Given the description of an element on the screen output the (x, y) to click on. 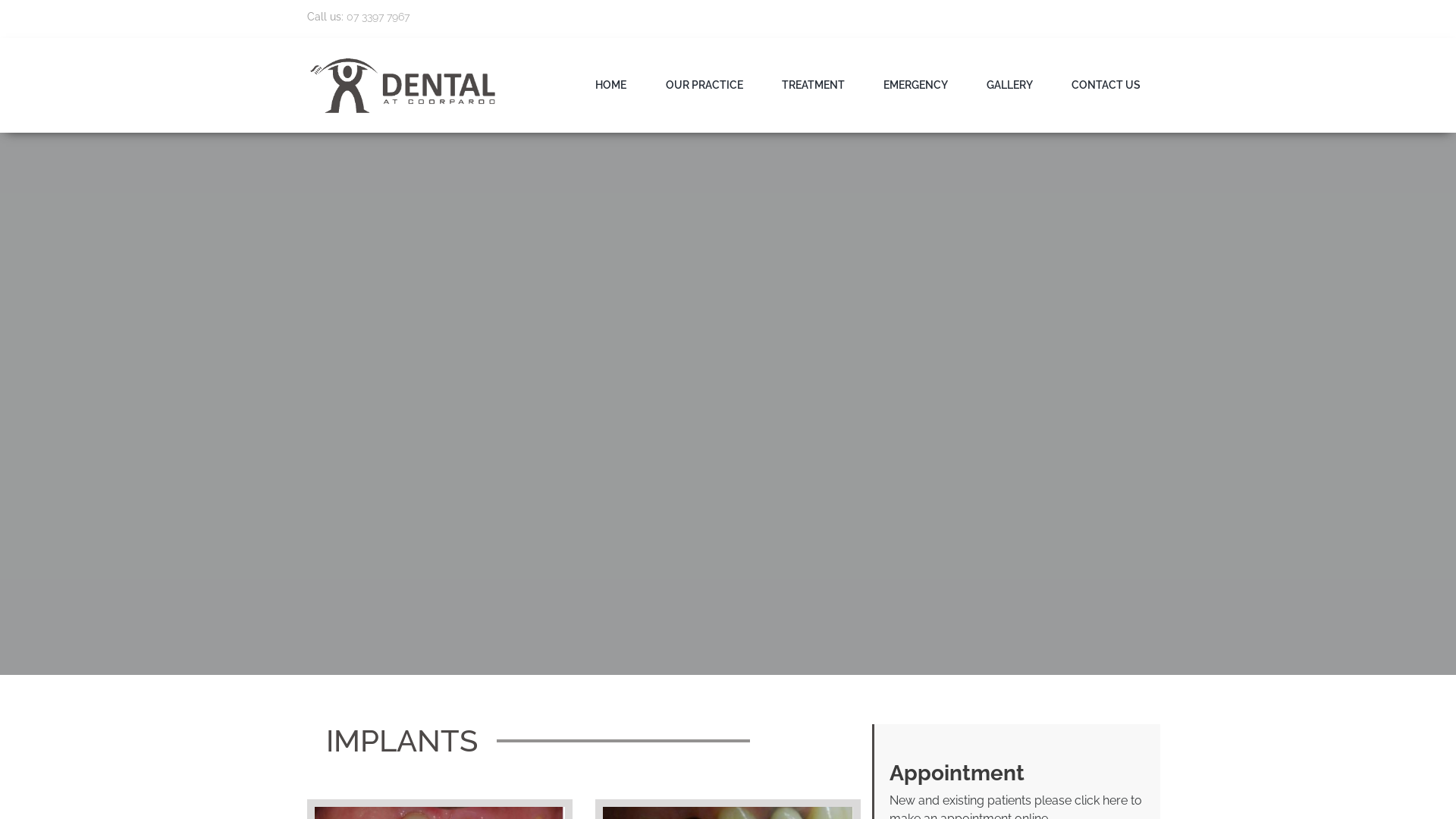
GALLERY Element type: text (1009, 84)
pv magazine USA - Photovoltaics Markets and Technology Element type: hover (403, 84)
TREATMENT Element type: text (812, 84)
EMERGENCY Element type: text (915, 84)
HOME Element type: text (610, 84)
Dental at Coorparoo Element type: hover (403, 85)
CONTACT US Element type: text (1105, 84)
OUR PRACTICE Element type: text (704, 84)
07 3397 7967 Element type: text (377, 16)
